Given the description of an element on the screen output the (x, y) to click on. 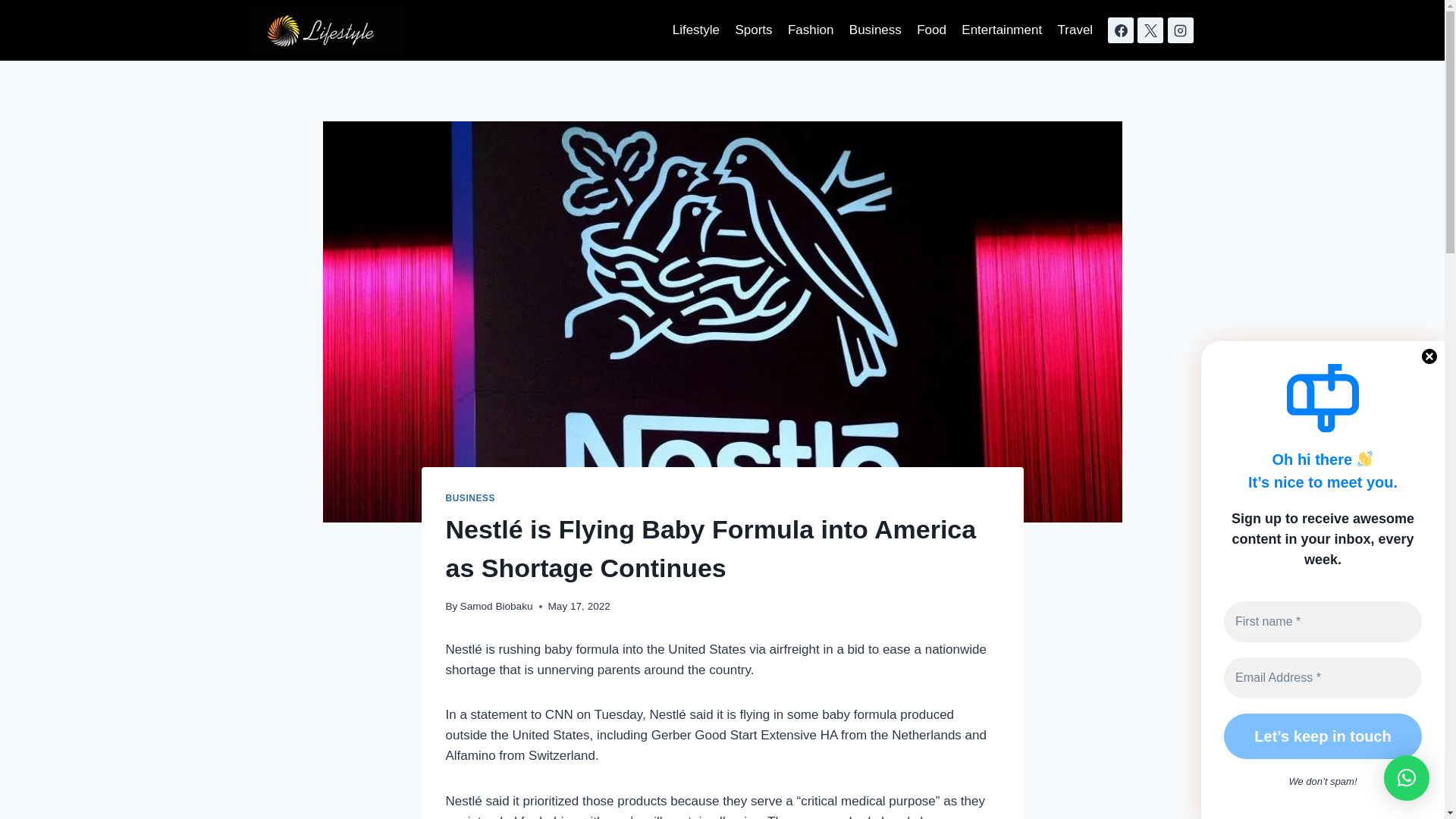
Lifestyle (694, 30)
First name (1323, 620)
Email Address (1323, 676)
Fashion (810, 30)
Entertainment (1001, 30)
Business (874, 30)
Samod Biobaku (496, 605)
BUSINESS (470, 498)
